Given the description of an element on the screen output the (x, y) to click on. 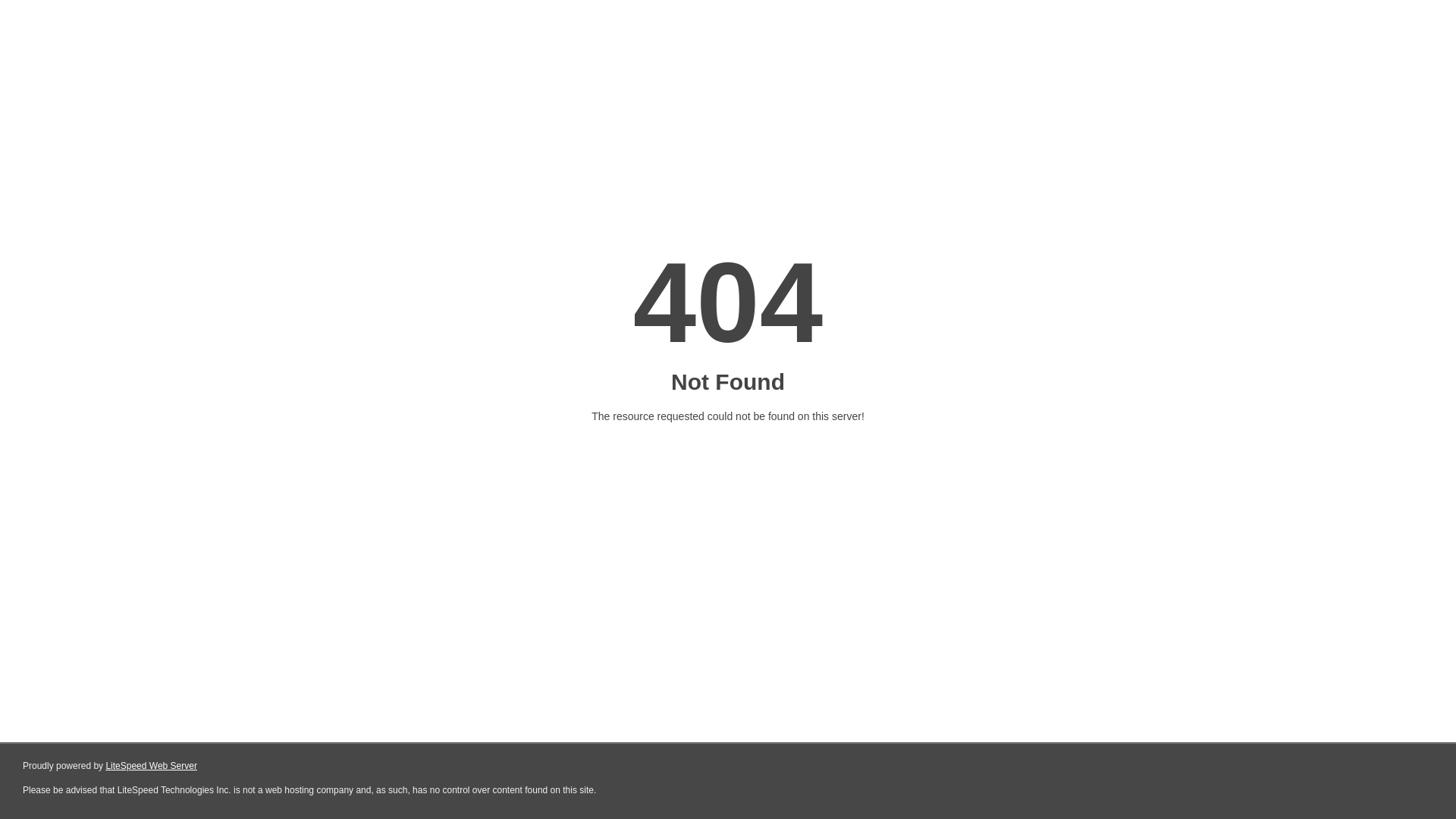
LiteSpeed Web Server Element type: text (151, 765)
